Given the description of an element on the screen output the (x, y) to click on. 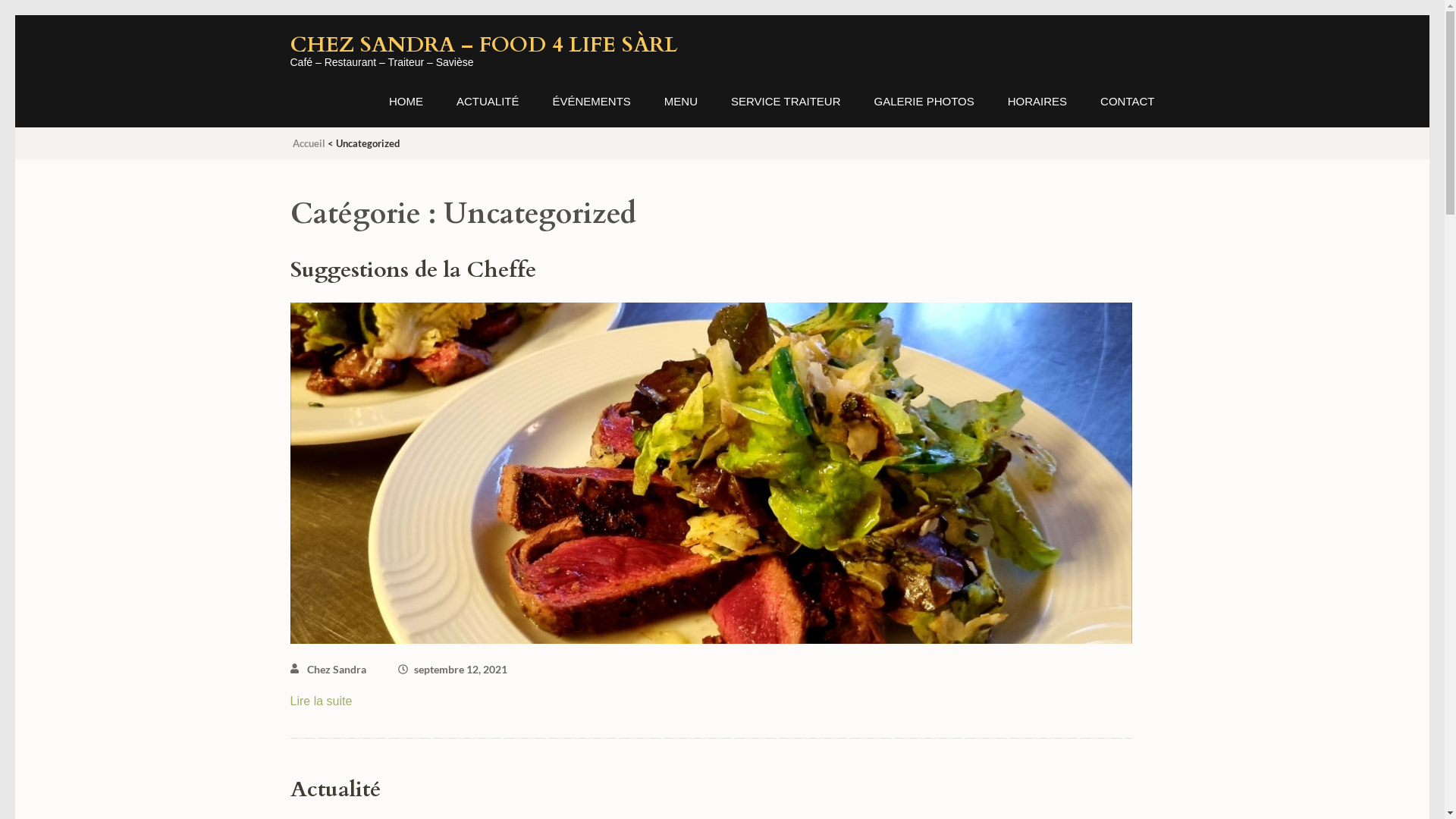
Suggestions de la Cheffe Element type: text (412, 269)
Lire la suite Element type: text (320, 700)
septembre 12, 2021 Element type: text (460, 668)
CONTACT Element type: text (1127, 110)
HOME Element type: text (406, 110)
GALERIE PHOTOS Element type: text (923, 110)
Chez Sandra Element type: text (335, 668)
MENU Element type: text (680, 110)
HORAIRES Element type: text (1036, 110)
Accueil Element type: text (308, 143)
SERVICE TRAITEUR Element type: text (785, 110)
